Given the description of an element on the screen output the (x, y) to click on. 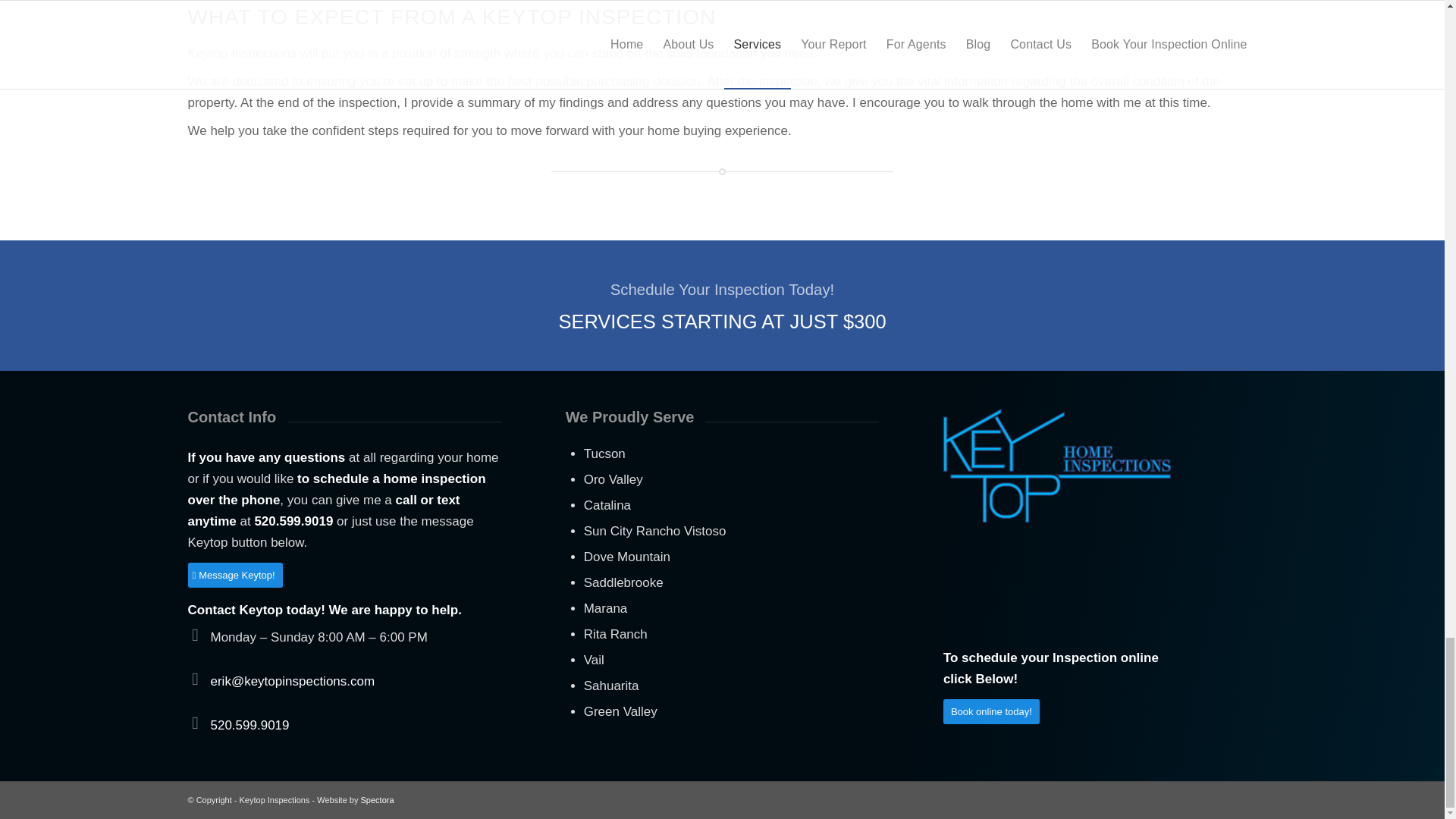
Spectora (377, 799)
Message Keytop! (234, 575)
520.599.9019 (250, 725)
Book online today! (991, 711)
